Given the description of an element on the screen output the (x, y) to click on. 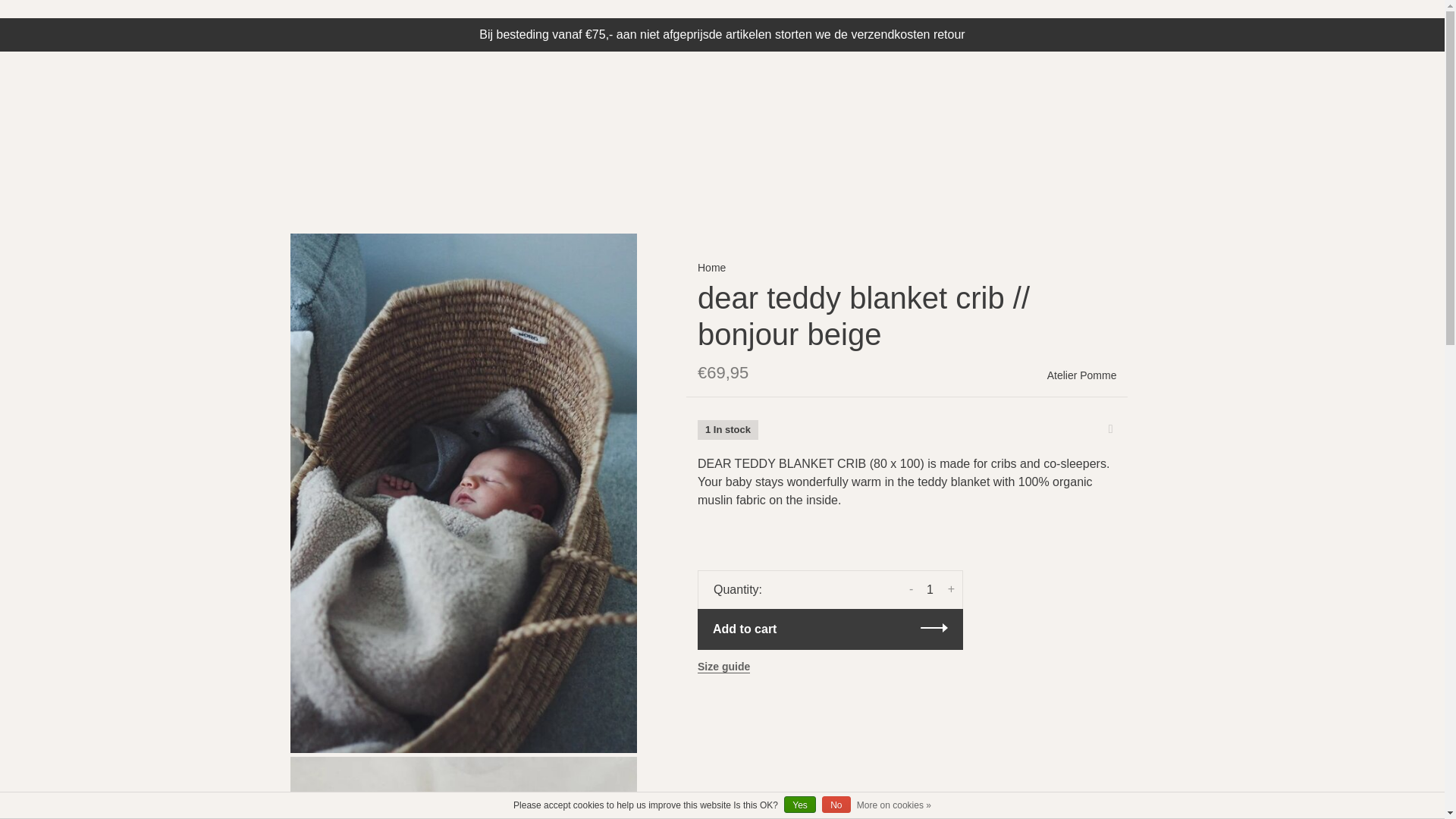
1 (929, 589)
